Given the description of an element on the screen output the (x, y) to click on. 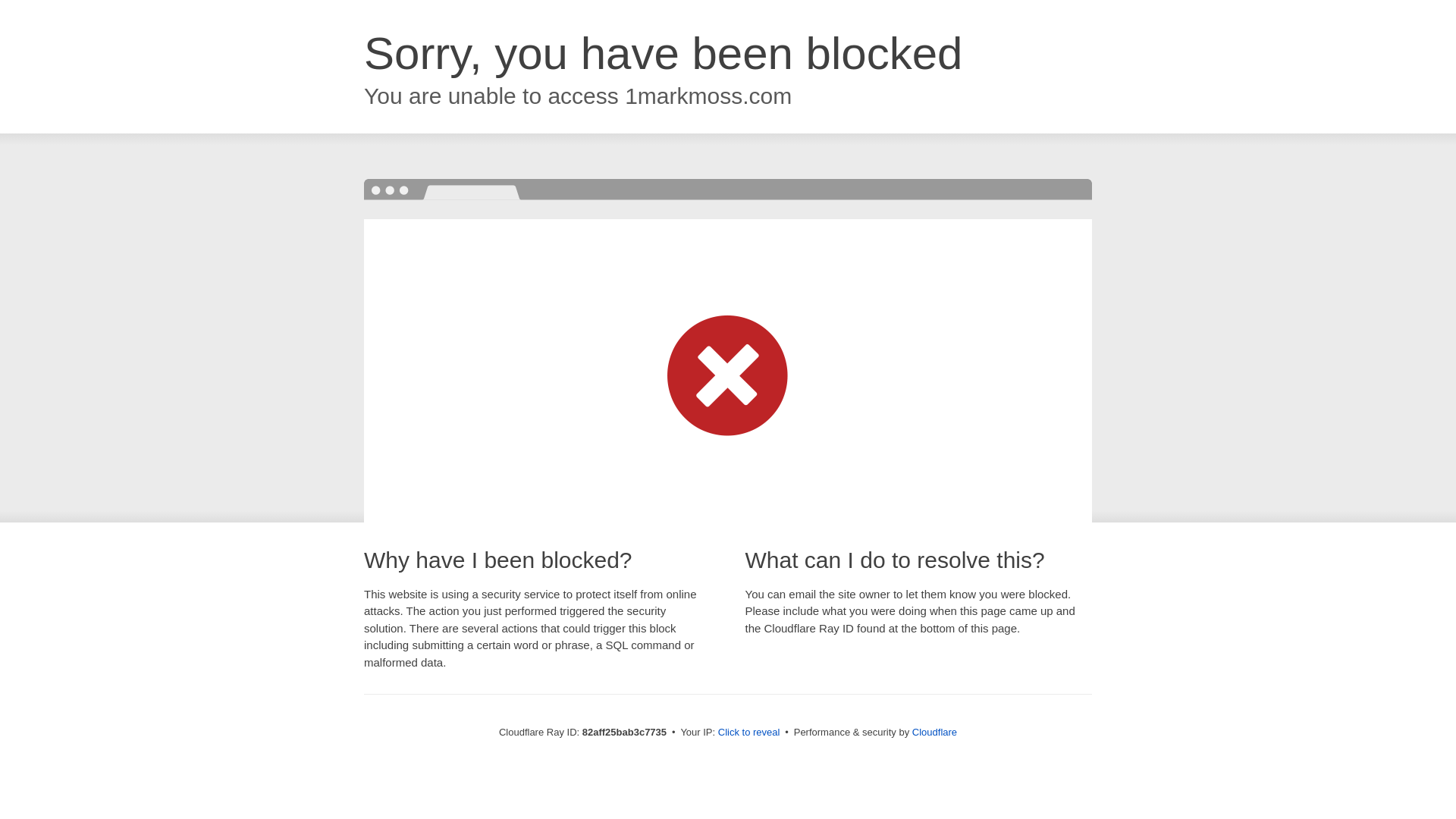
Click to reveal Element type: text (749, 732)
Cloudflare Element type: text (934, 731)
